Given the description of an element on the screen output the (x, y) to click on. 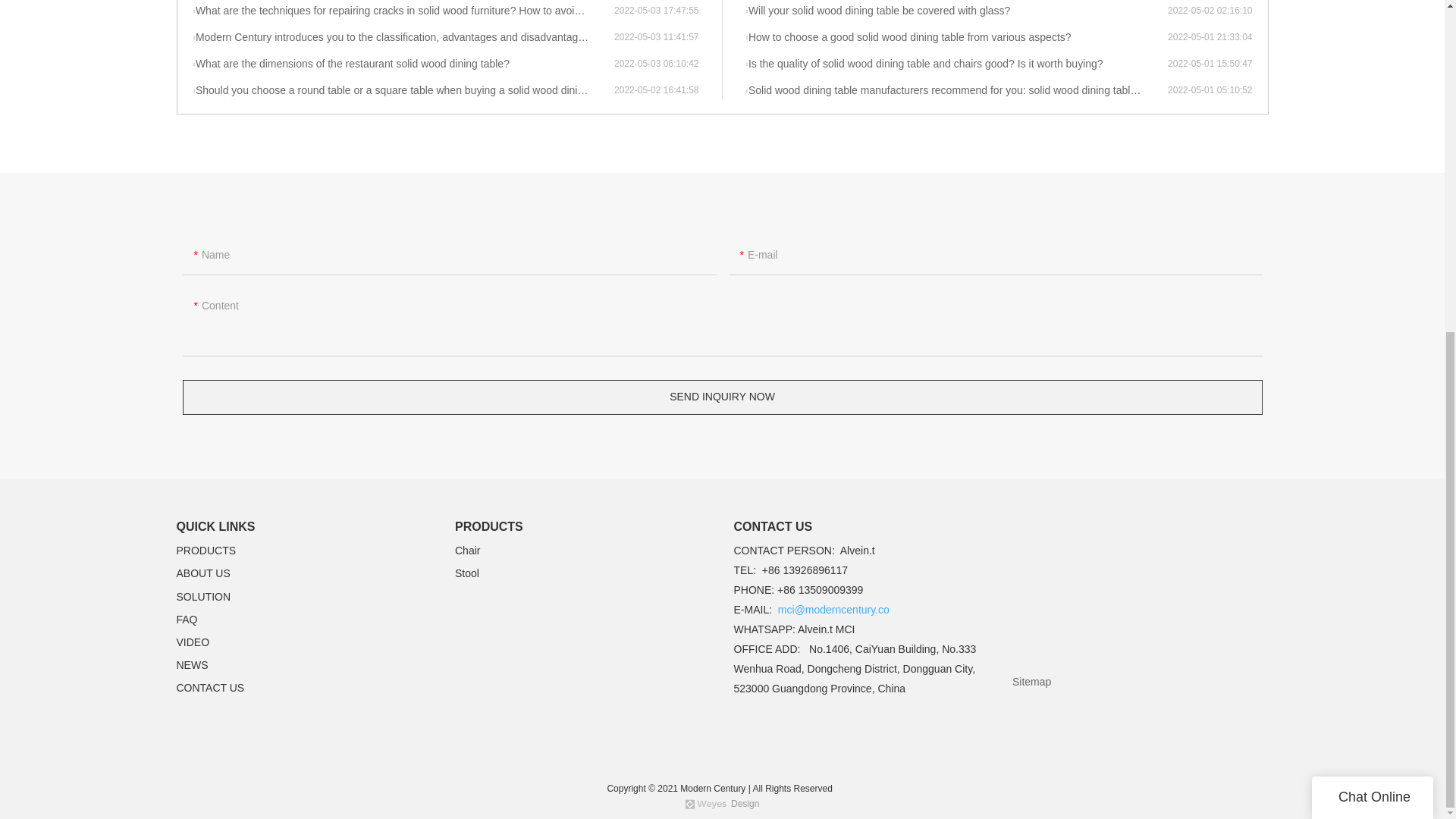
PRODUCTS (205, 550)
SEND INQUIRY NOW (722, 397)
ABOUT US (203, 573)
Will your solid wood dining table be covered with glass? (955, 11)
